Given the description of an element on the screen output the (x, y) to click on. 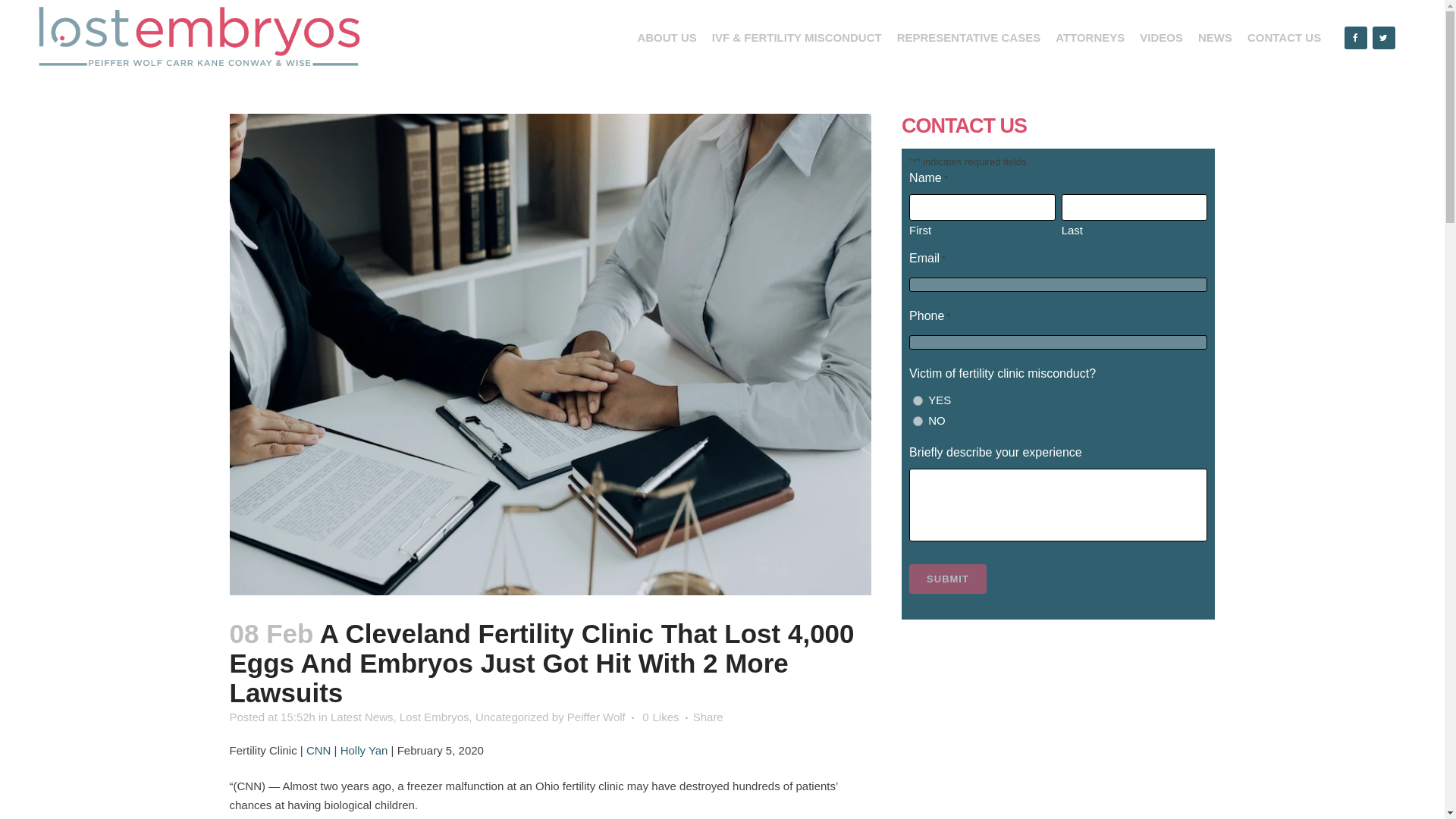
Like this (660, 716)
Submit (947, 578)
YES (917, 400)
ABOUT US (665, 38)
CONTACT US (1283, 38)
NO (917, 420)
VIDEOS (1161, 38)
REPRESENTATIVE CASES (968, 38)
ATTORNEYS (1090, 38)
NEWS (1215, 38)
